Given the description of an element on the screen output the (x, y) to click on. 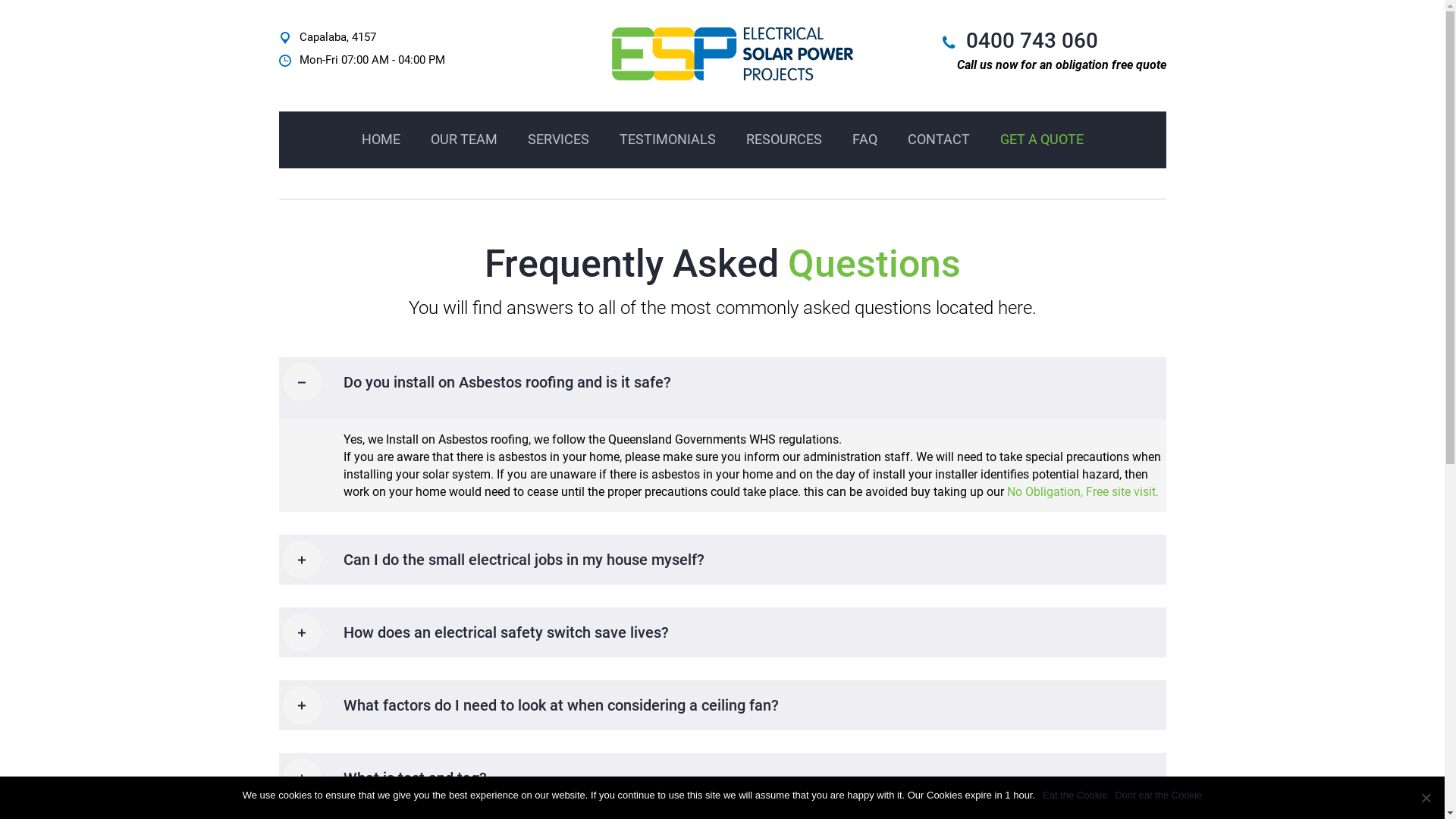
HOME Element type: text (379, 139)
Dont eat the Cookie Element type: text (1157, 795)
GET A QUOTE Element type: text (1041, 139)
TESTIMONIALS Element type: text (666, 139)
SERVICES Element type: text (558, 139)
Eat the Cookie Element type: text (1074, 795)
CONTACT Element type: text (937, 139)
Dont eat the Cookie Element type: hover (1425, 797)
FAQ Element type: text (864, 139)
OUR TEAM Element type: text (463, 139)
RESOURCES Element type: text (784, 139)
0400 743 060 Element type: text (1032, 40)
